Given the description of an element on the screen output the (x, y) to click on. 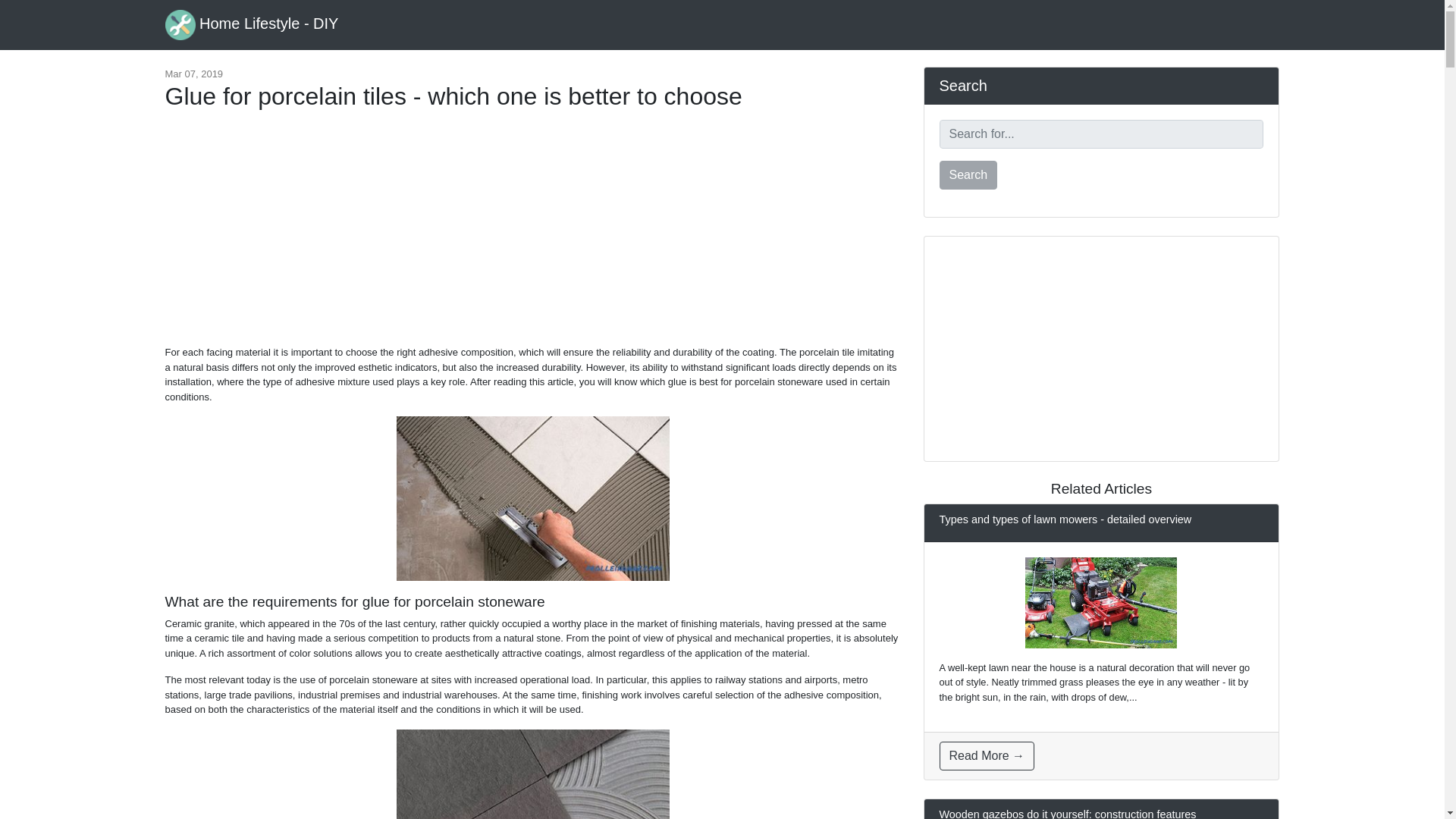
Search (968, 174)
Glue for porcelain tiles - which one is better to choose (532, 497)
Advertisement (531, 234)
Home Lifestyle - DIY (252, 24)
Glue for porcelain tiles - which one is better to choose (532, 774)
